Given the description of an element on the screen output the (x, y) to click on. 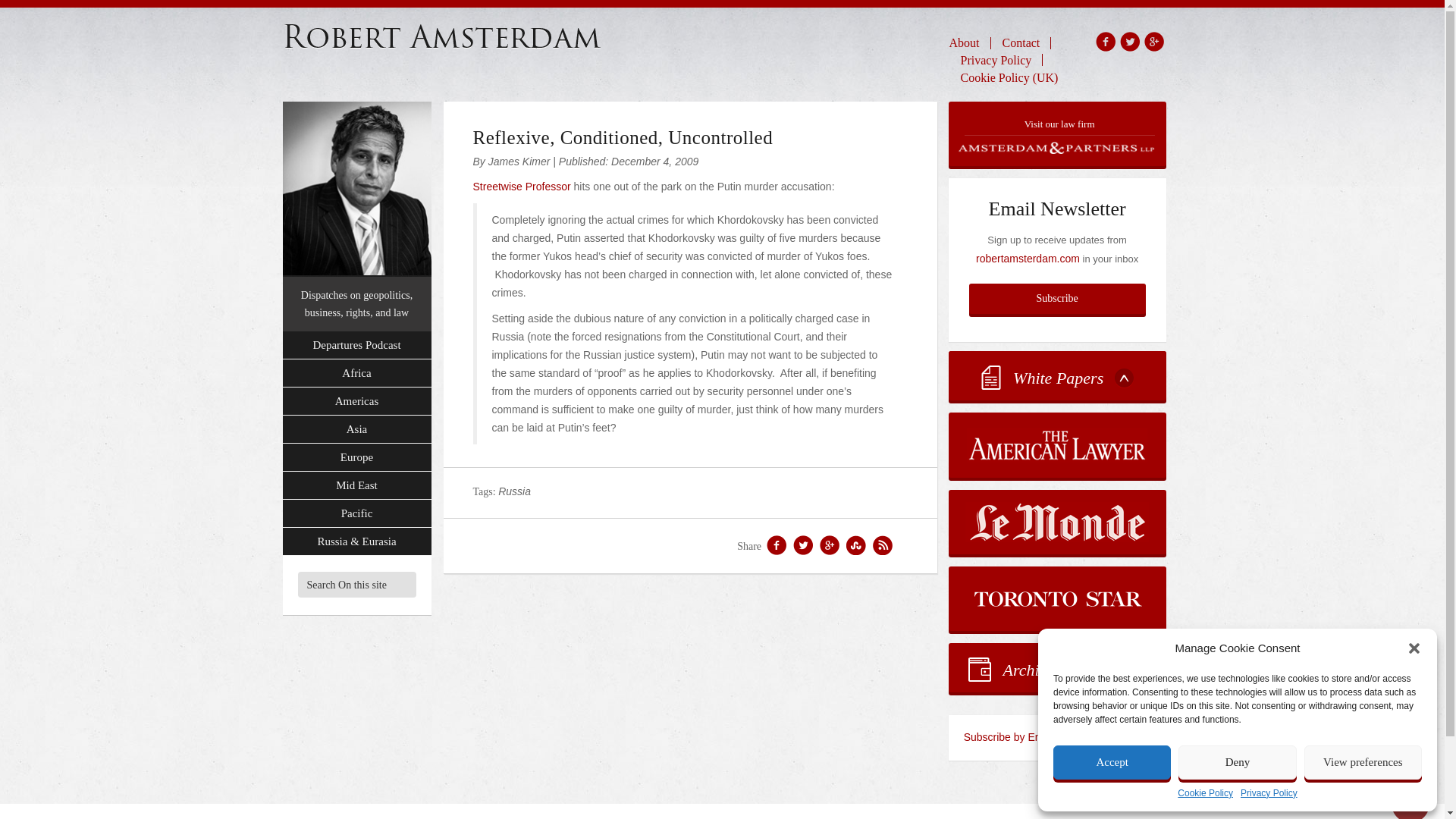
Pacific (356, 513)
Deny (1236, 762)
Reflexive, Conditioned, Uncontrolled (623, 137)
About (970, 42)
Americas (356, 401)
Mid East (356, 485)
Subscribe (1057, 298)
Accept (1111, 762)
robertamsterdam.com (1027, 258)
Privacy Policy (996, 59)
